Given the description of an element on the screen output the (x, y) to click on. 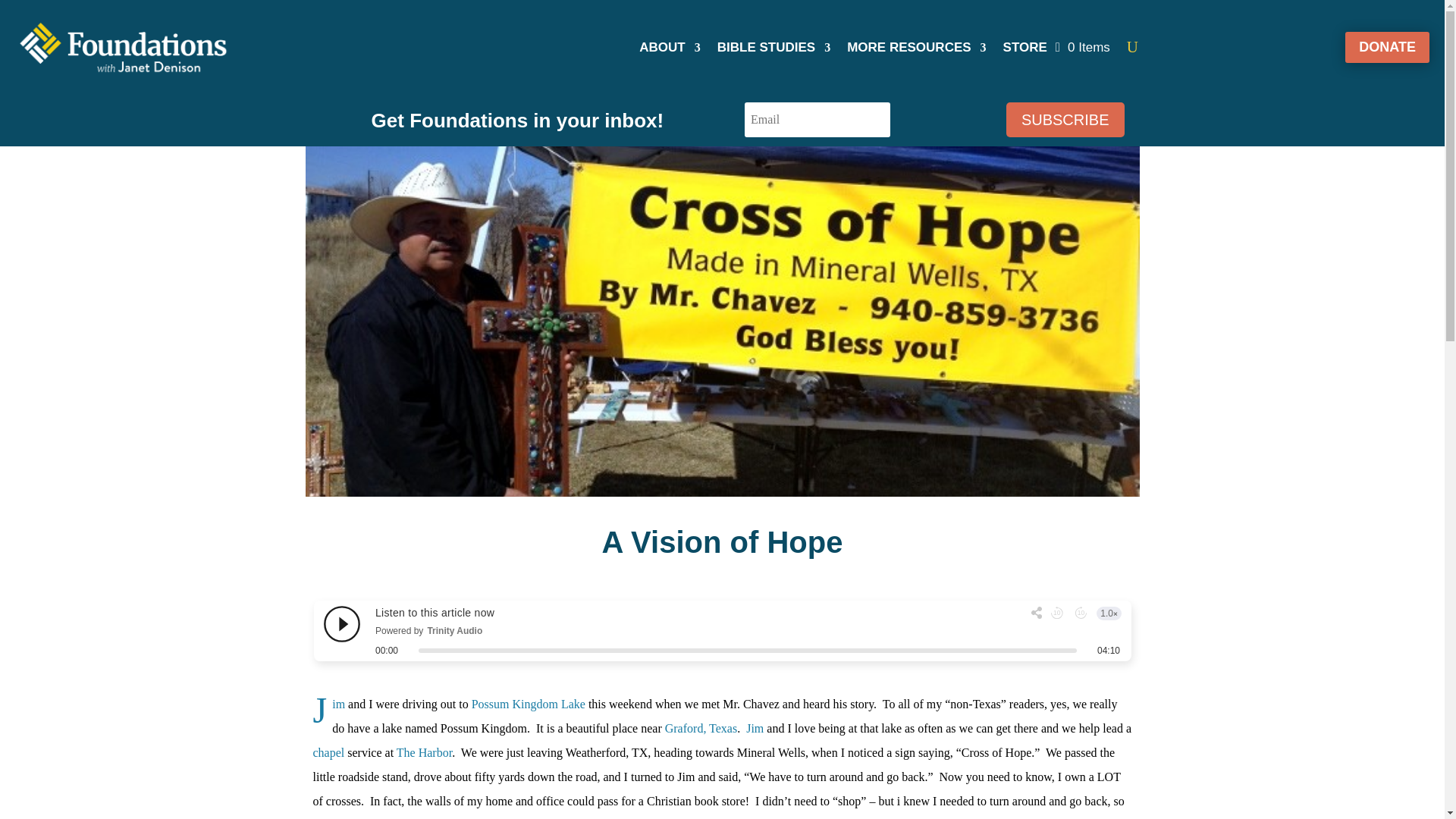
Jim (338, 703)
ABOUT (669, 50)
SUBSCRIBE (1065, 119)
0 Items (1082, 47)
About Dr Jim Denison - Denison Forum on Truth and Culture (338, 703)
The Harbor at Possum Kingdom Lake (423, 752)
MORE RESOURCES (916, 50)
Possum Kingdom Lake (528, 703)
About Dr Jim Denison - Denison Forum on Truth and Culture (753, 727)
Graford, Texas (700, 727)
The Harbor Chapel at Possum Kingdom Lake (330, 752)
Graford, TX (700, 727)
FJD-Logo-Pantone-WhiteYellow (122, 47)
Jim (753, 727)
STORE (1024, 50)
